Given the description of an element on the screen output the (x, y) to click on. 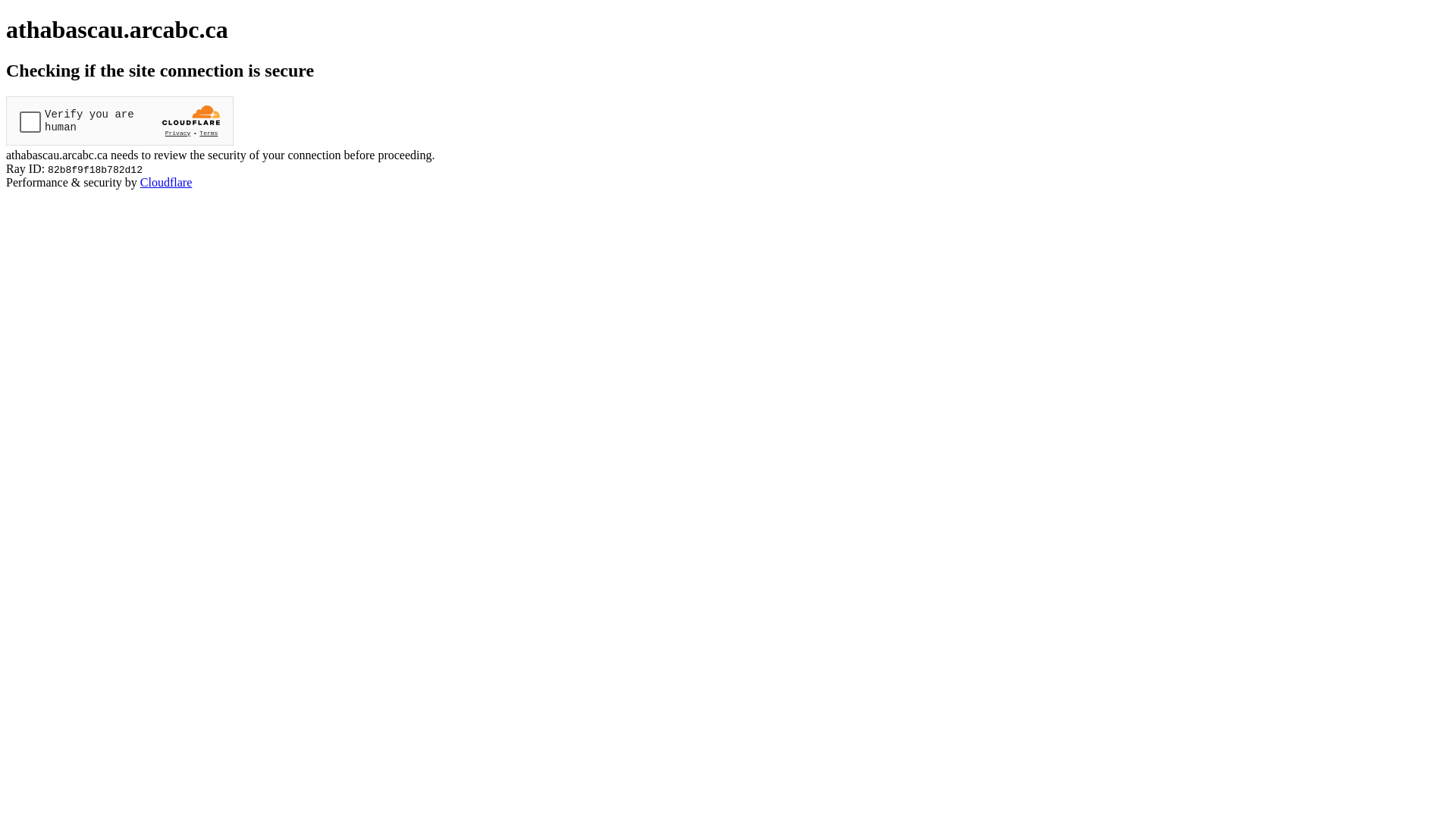
Cloudflare Element type: text (165, 181)
Widget containing a Cloudflare security challenge Element type: hover (119, 120)
